Given the description of an element on the screen output the (x, y) to click on. 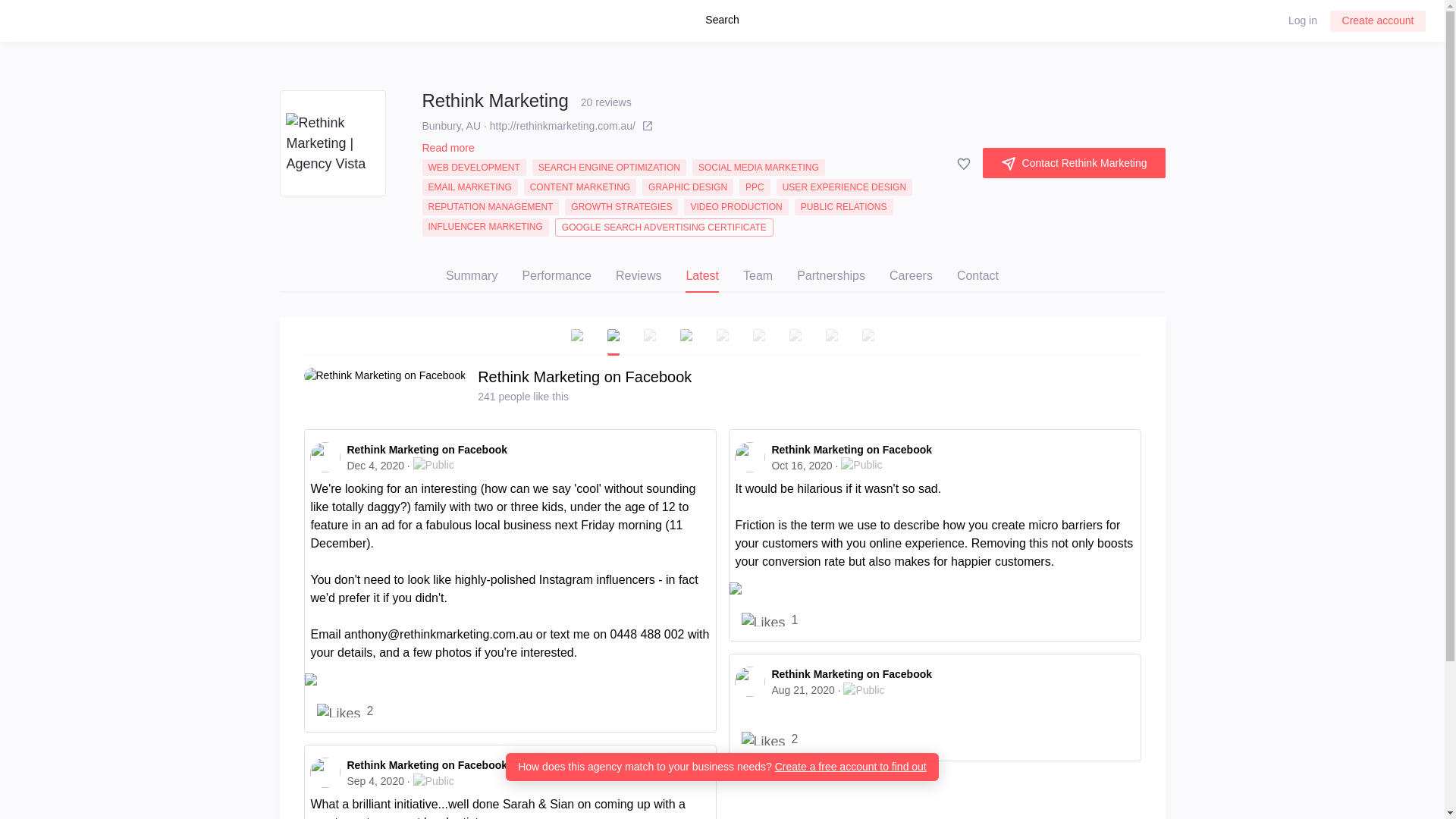
Rethink Marketing on Facebook (584, 376)
Summary (471, 276)
Reviews (638, 276)
Log in (1302, 20)
Contact Rethink Marketing (1074, 163)
Rethink Marketing on Facebook (426, 765)
20 reviews (603, 100)
Rethink Marketing on Facebook (426, 449)
Rethink Marketing on Facebook (851, 674)
Create a free account to find out (850, 766)
